Given the description of an element on the screen output the (x, y) to click on. 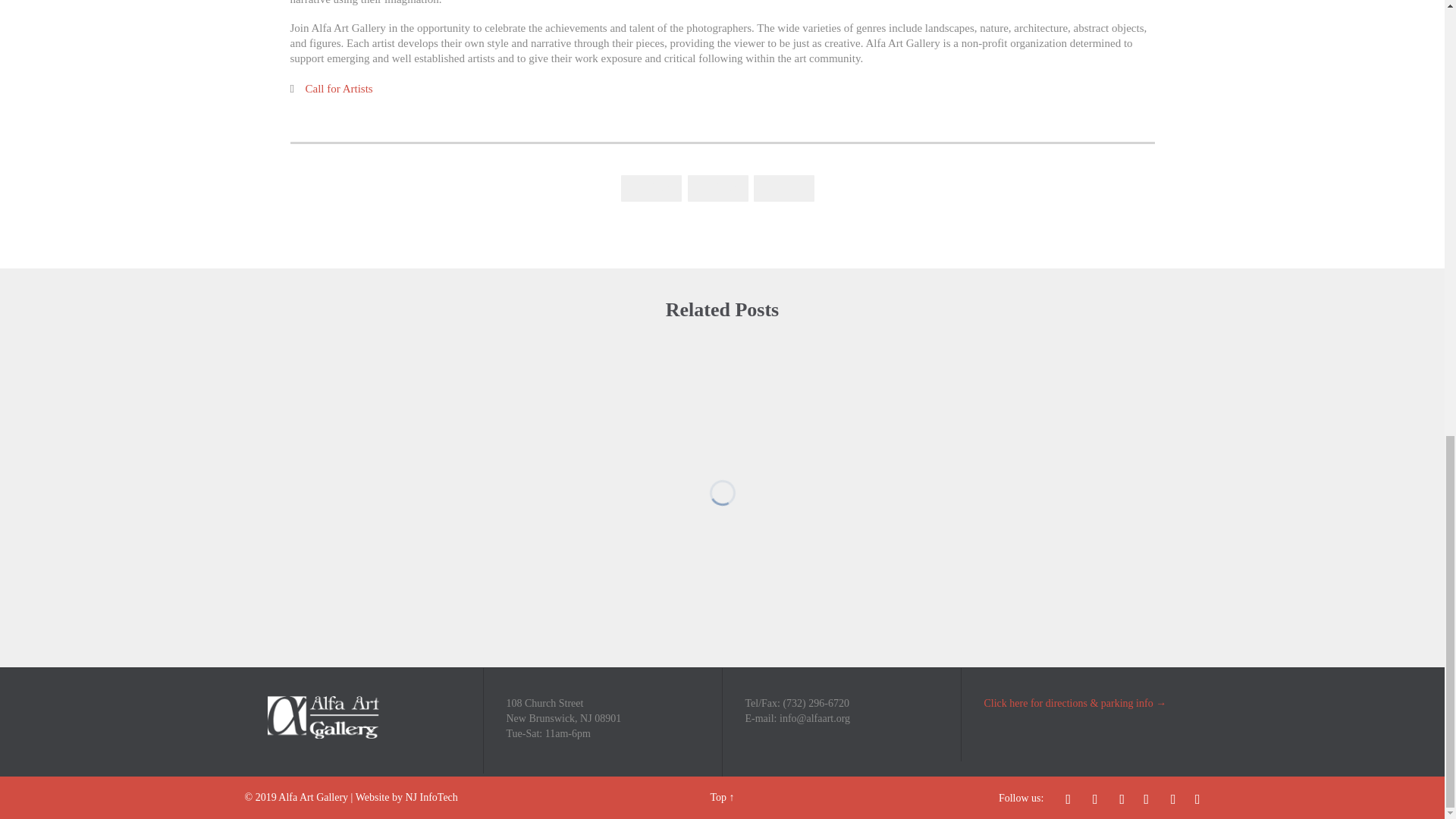
Share on Twitter (717, 187)
Share on Facebook (651, 187)
Top (718, 797)
Share on Google Plus (783, 187)
